Given the description of an element on the screen output the (x, y) to click on. 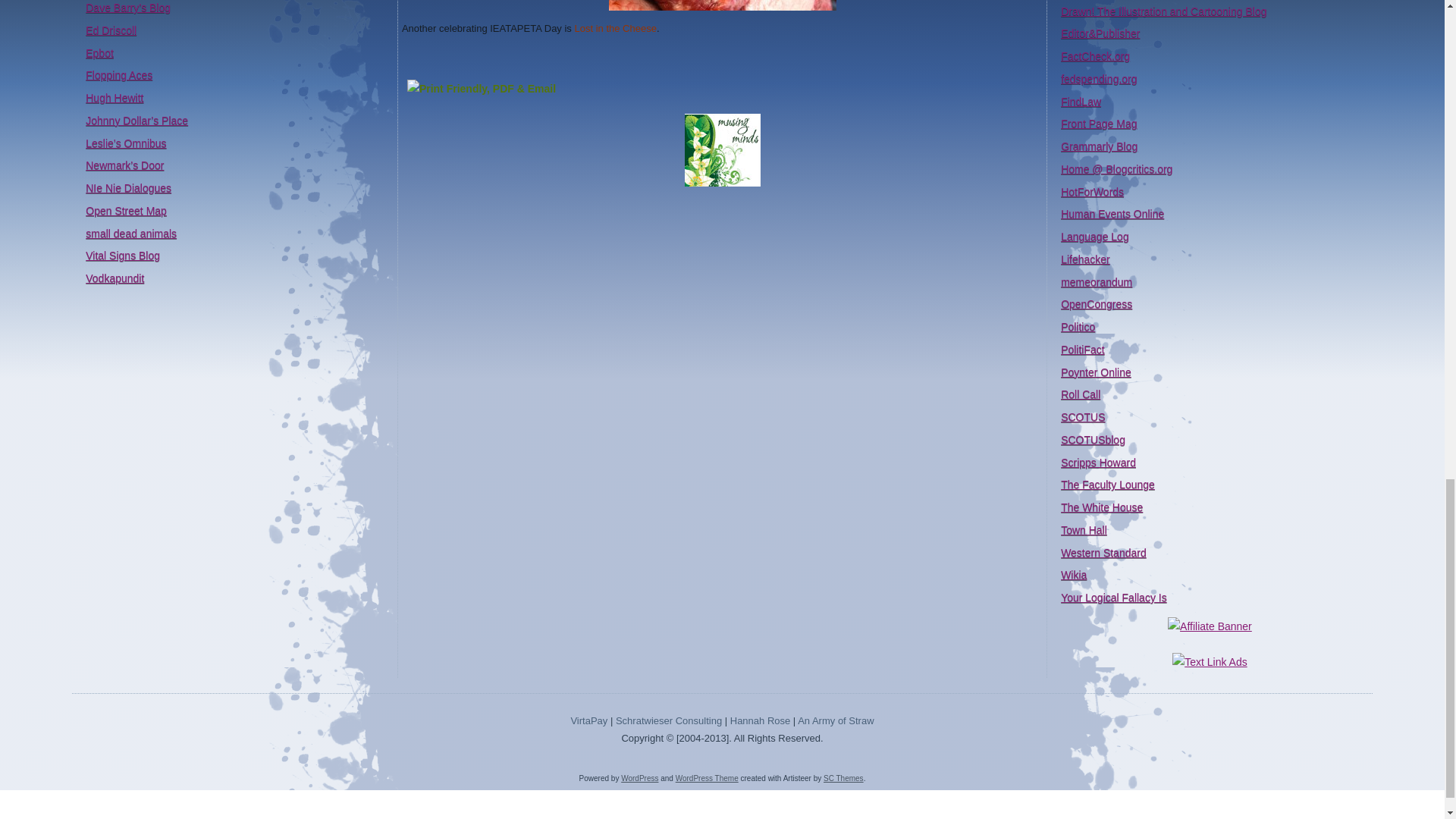
NIe Nie Dialogues (128, 187)
Ed Driscoll (110, 30)
Epbot (99, 52)
Epbot (99, 52)
Open Street Map (126, 210)
Hugh Hewitt (113, 97)
Flopping Aces (118, 74)
Flopping Aces (118, 74)
Ed Driscoll (110, 30)
